Given the description of an element on the screen output the (x, y) to click on. 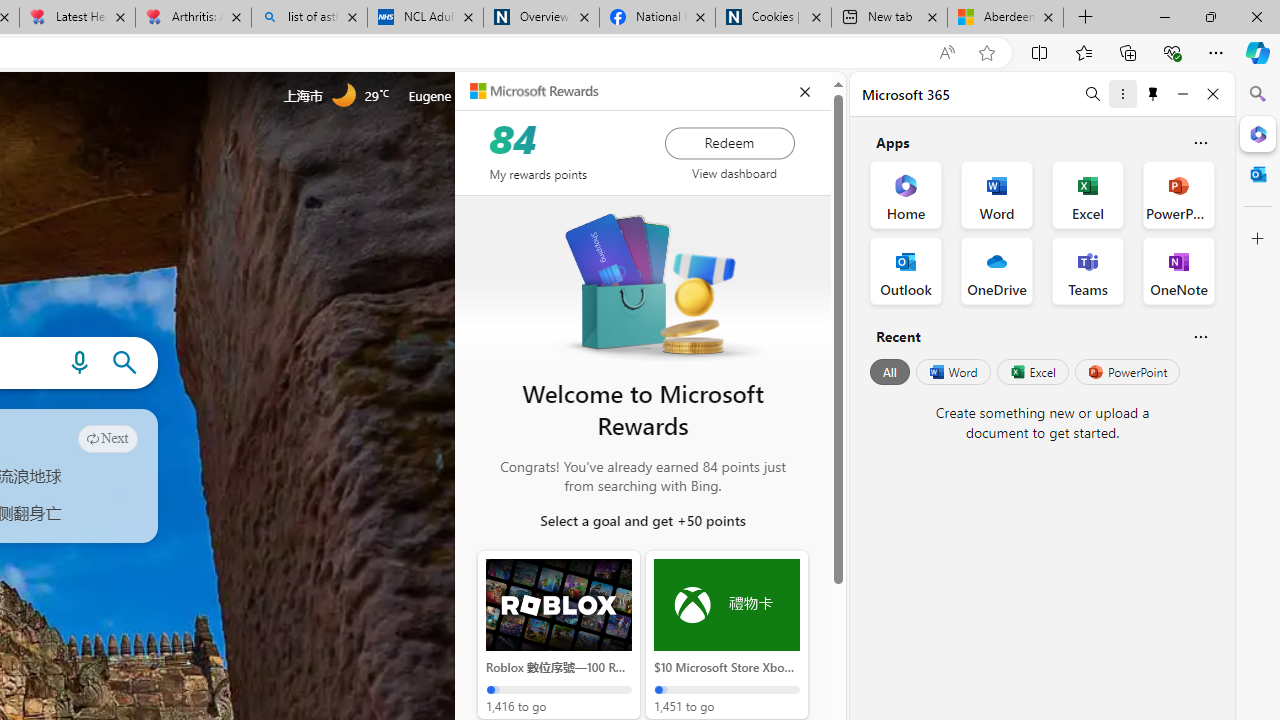
Excel Office App (1087, 194)
Search using voice (79, 363)
Aberdeen, Hong Kong SAR hourly forecast | Microsoft Weather (1005, 17)
Cookies | About | NICE (772, 17)
